Given the description of an element on the screen output the (x, y) to click on. 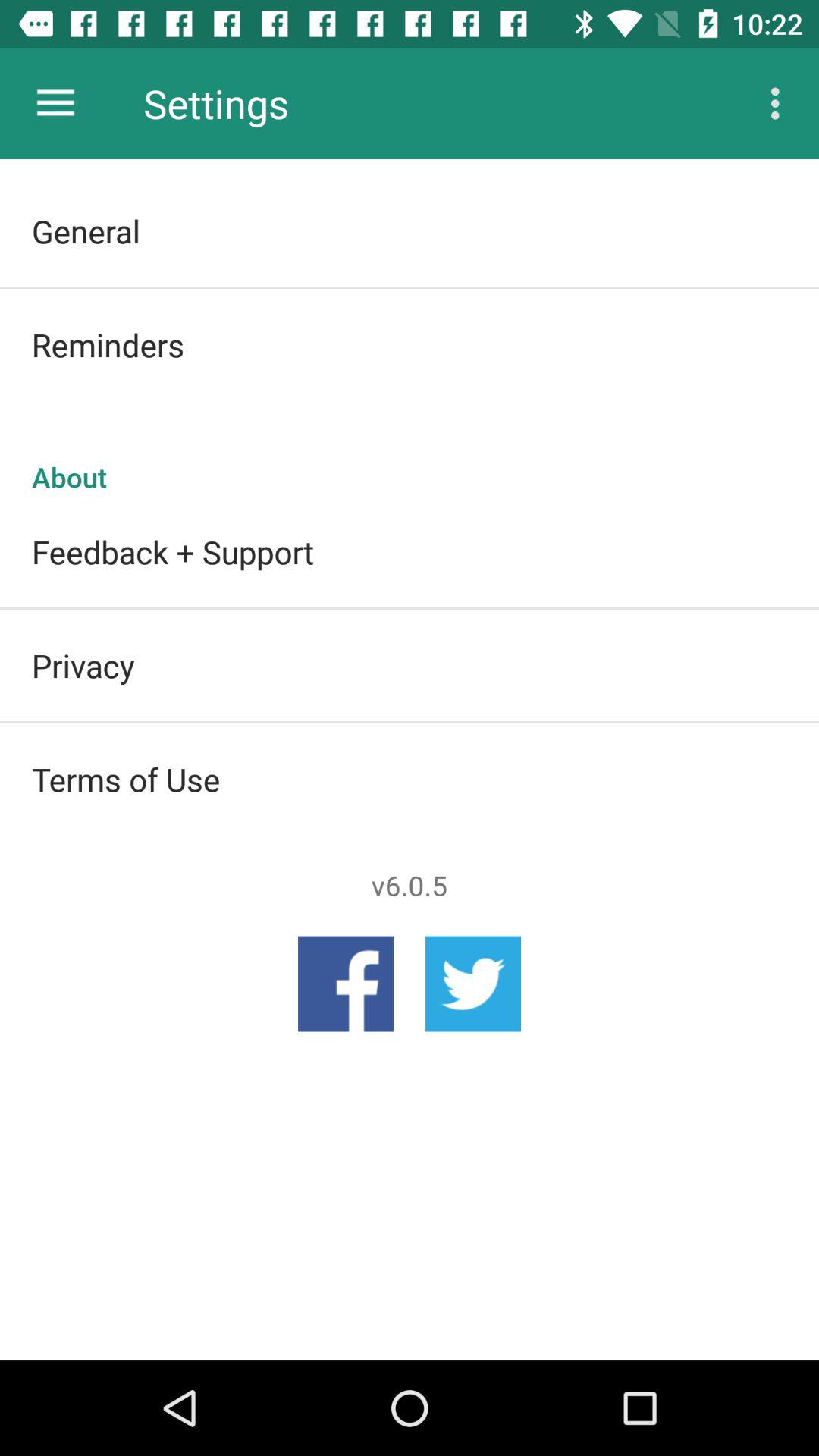
press the general item (409, 230)
